Given the description of an element on the screen output the (x, y) to click on. 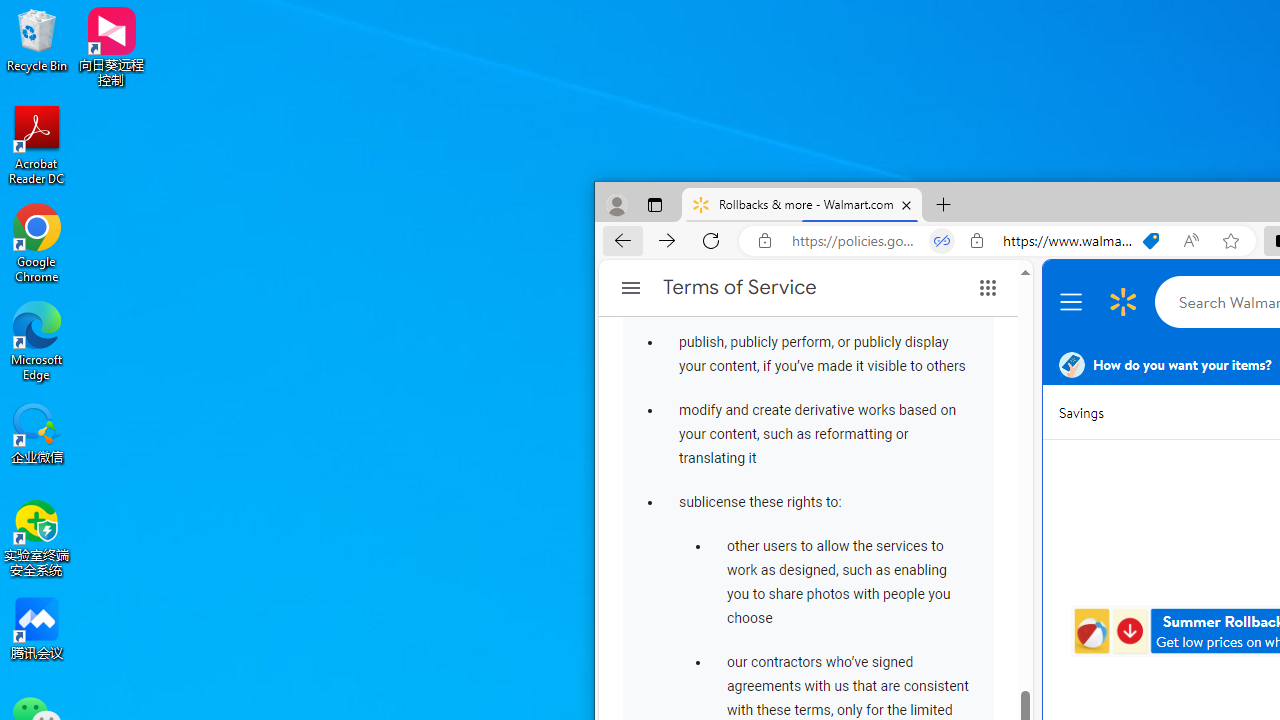
Recycle Bin (37, 39)
Google Chrome (37, 242)
Tabs in split screen (941, 241)
